Given the description of an element on the screen output the (x, y) to click on. 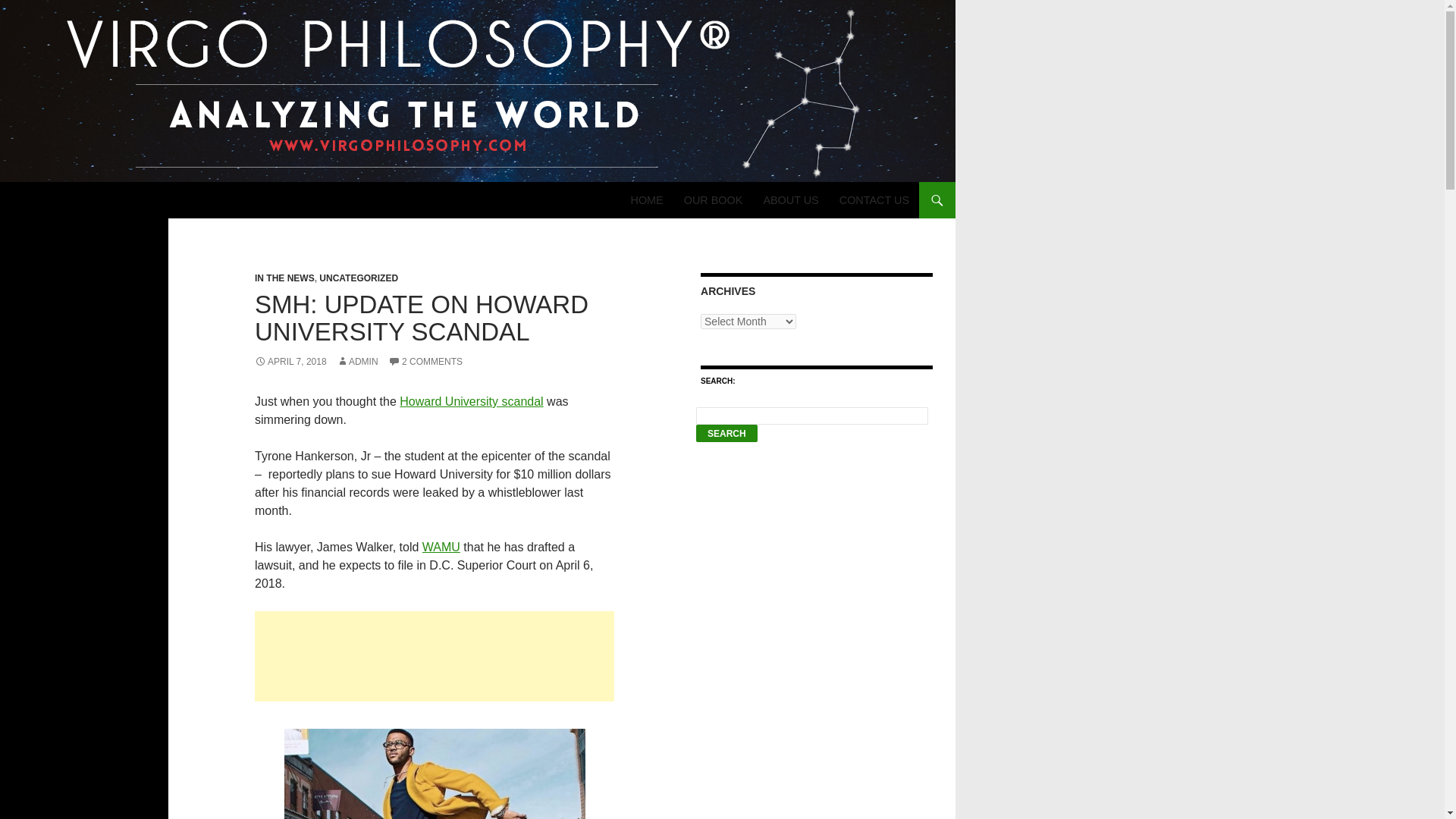
2 COMMENTS (425, 361)
APRIL 7, 2018 (290, 361)
Search (726, 433)
ADMIN (357, 361)
CONTACT US (873, 199)
WAMU (441, 546)
Howard University scandal (470, 400)
UNCATEGORIZED (357, 277)
ABOUT US (790, 199)
OUR BOOK (713, 199)
